Given the description of an element on the screen output the (x, y) to click on. 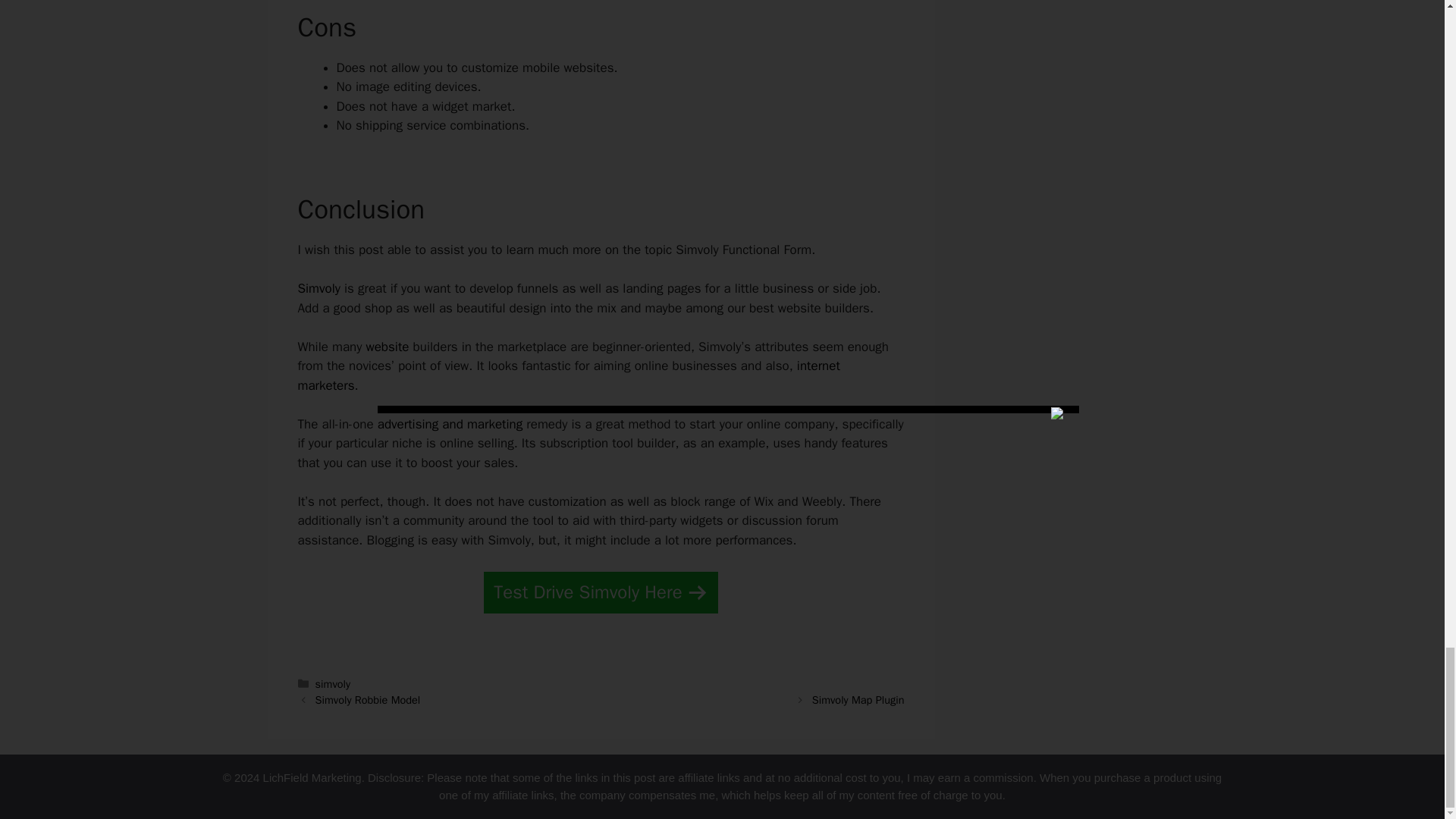
simvoly (332, 684)
Simvoly (318, 288)
internet marketers (568, 375)
website (387, 346)
Test Drive Simvoly Here (600, 592)
Simvoly Map Plugin (858, 699)
advertising and marketing (449, 424)
Simvoly Robbie Model (367, 699)
